Given the description of an element on the screen output the (x, y) to click on. 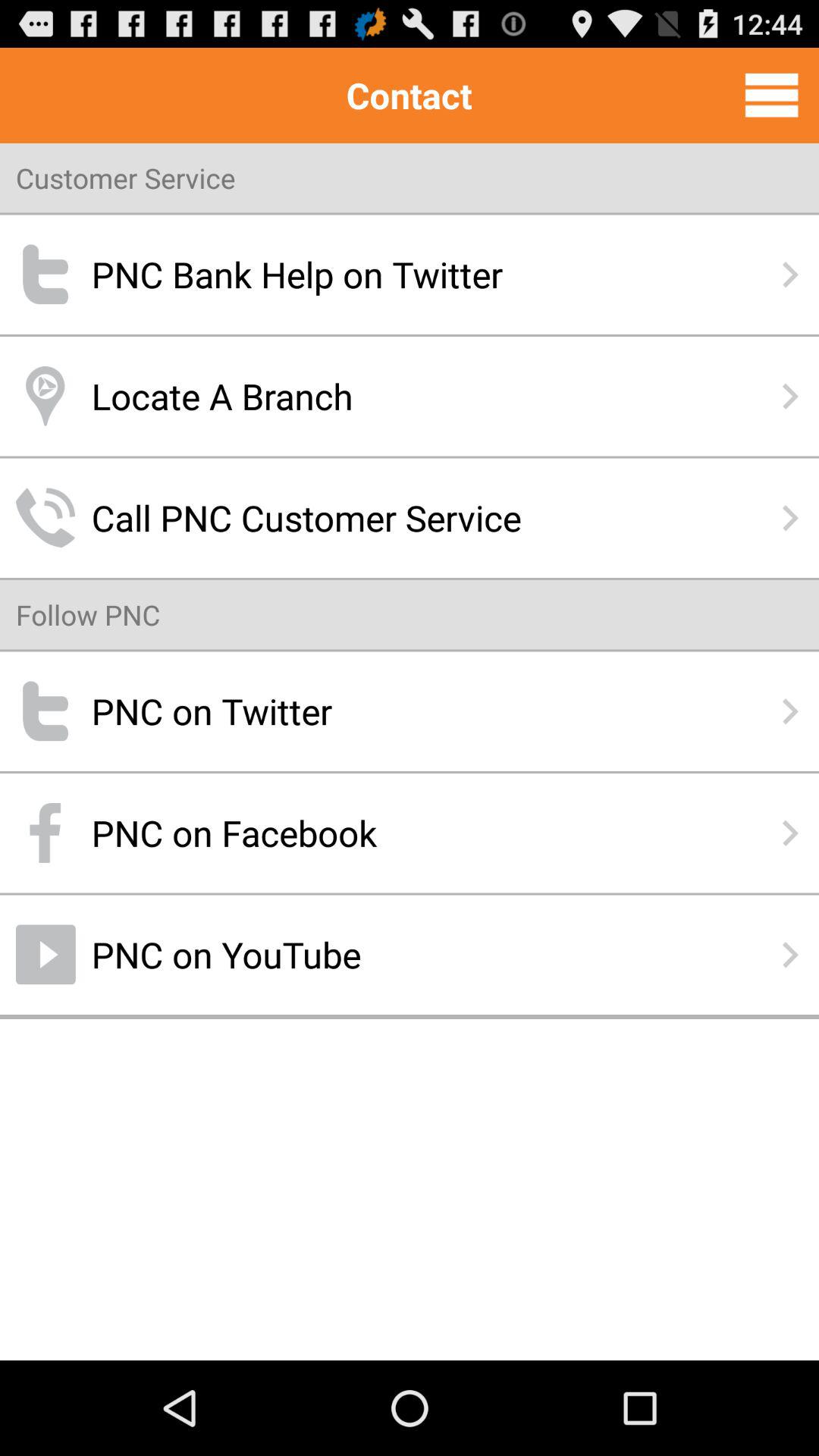
tap icon below locate a branch icon (409, 517)
